Given the description of an element on the screen output the (x, y) to click on. 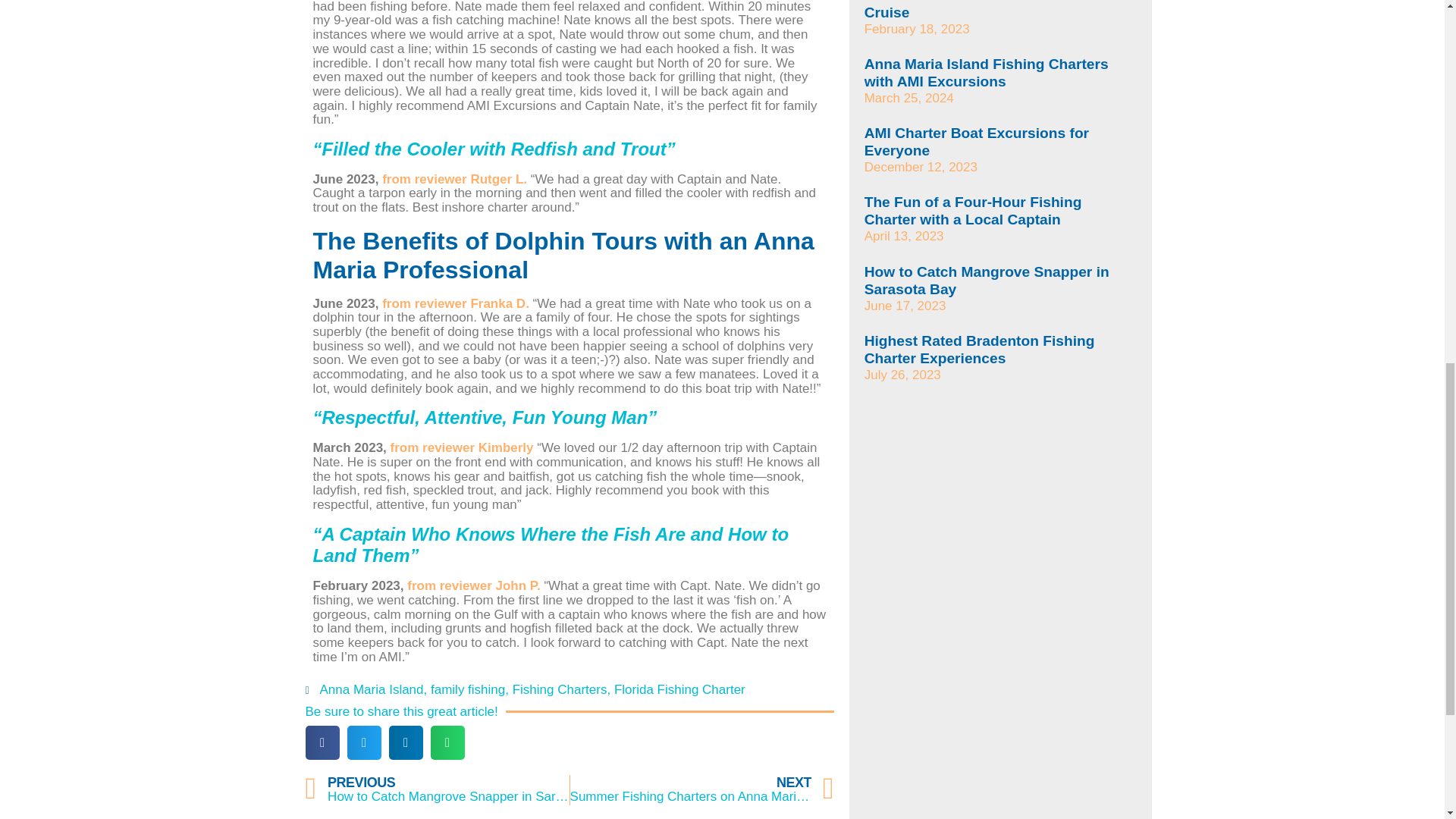
Florida Fishing Charter (679, 689)
from reviewer Rutger L. (454, 178)
family fishing (702, 789)
from reviewer John P. (467, 689)
Fishing Charters (436, 789)
from reviewer Kimberly (473, 585)
from reviewer Franka D. (559, 689)
Anna Maria Island (462, 447)
